Given the description of an element on the screen output the (x, y) to click on. 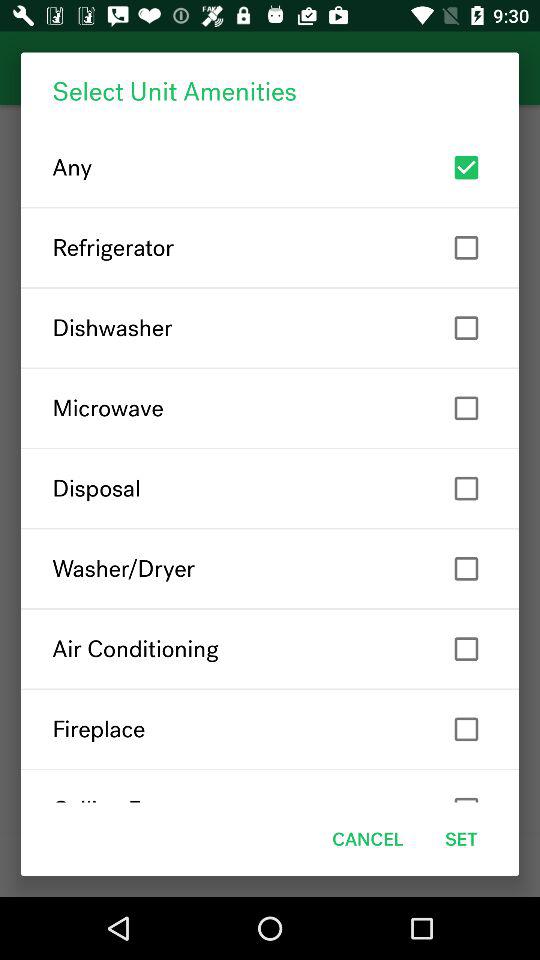
launch dishwasher (270, 327)
